Given the description of an element on the screen output the (x, y) to click on. 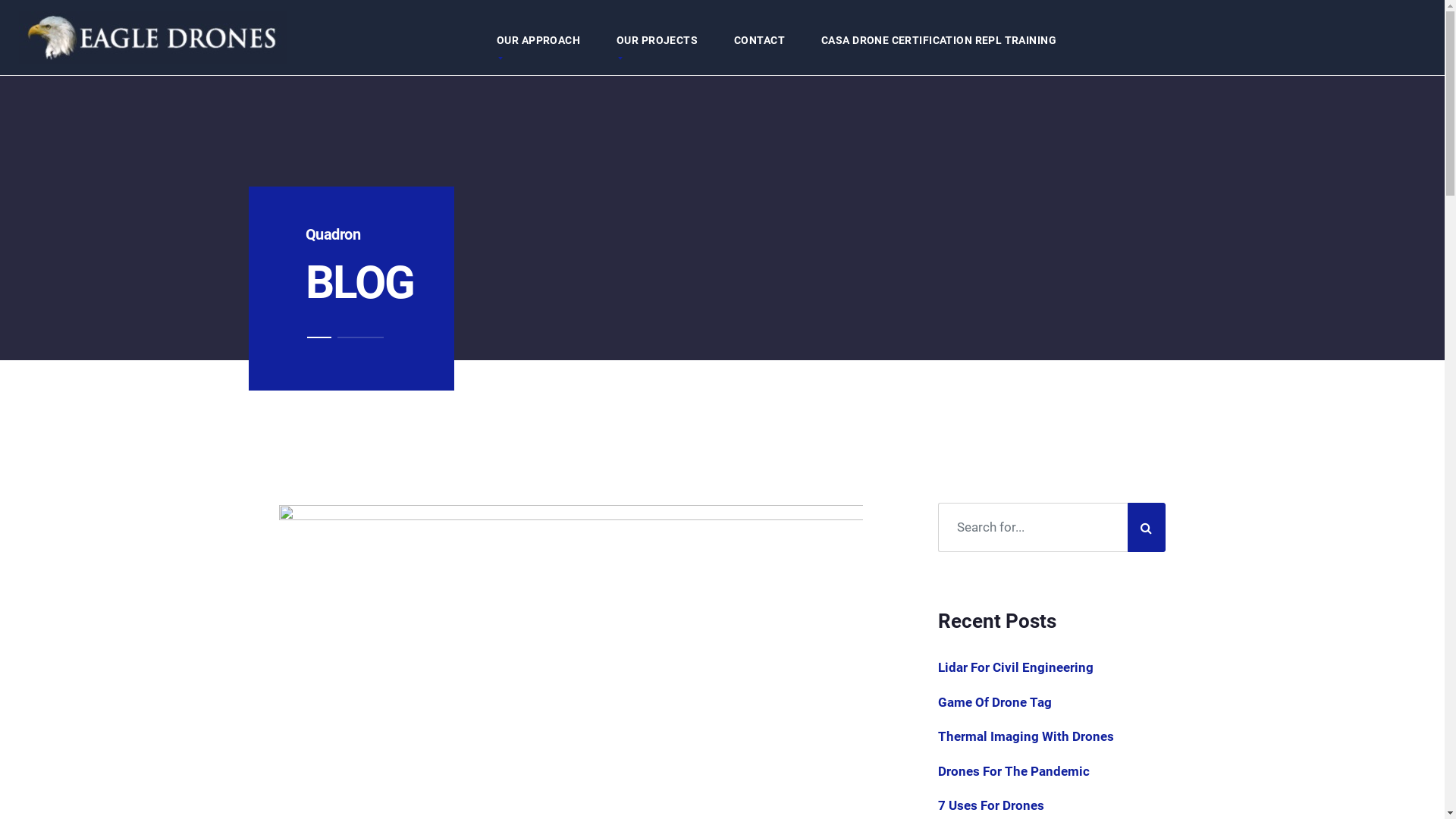
Drones For The Pandemic Element type: text (1012, 770)
OUR PROJECTS Element type: text (656, 40)
CONTACT Element type: text (759, 40)
7 Uses For Drones Element type: text (990, 804)
Game Of Drone Tag Element type: text (994, 701)
CASA DRONE CERTIFICATION REPL TRAINING Element type: text (938, 40)
Lidar For Civil Engineering Element type: text (1014, 666)
Thermal Imaging With Drones Element type: text (1025, 735)
OUR APPROACH Element type: text (538, 40)
